Given the description of an element on the screen output the (x, y) to click on. 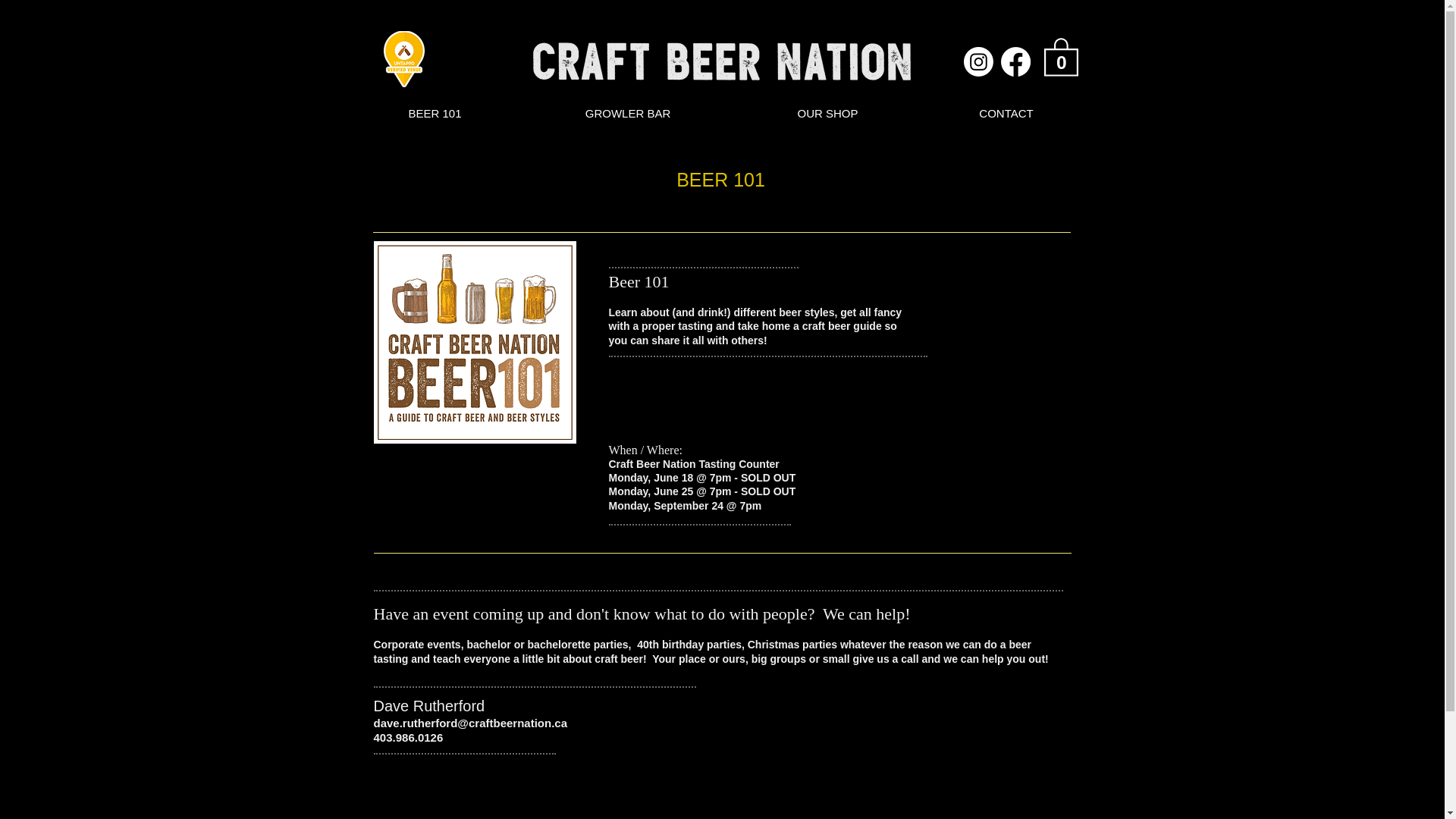
GROWLER BAR (627, 113)
BEER 101 (434, 113)
CONTACT (1006, 113)
OUR SHOP (827, 113)
